Given the description of an element on the screen output the (x, y) to click on. 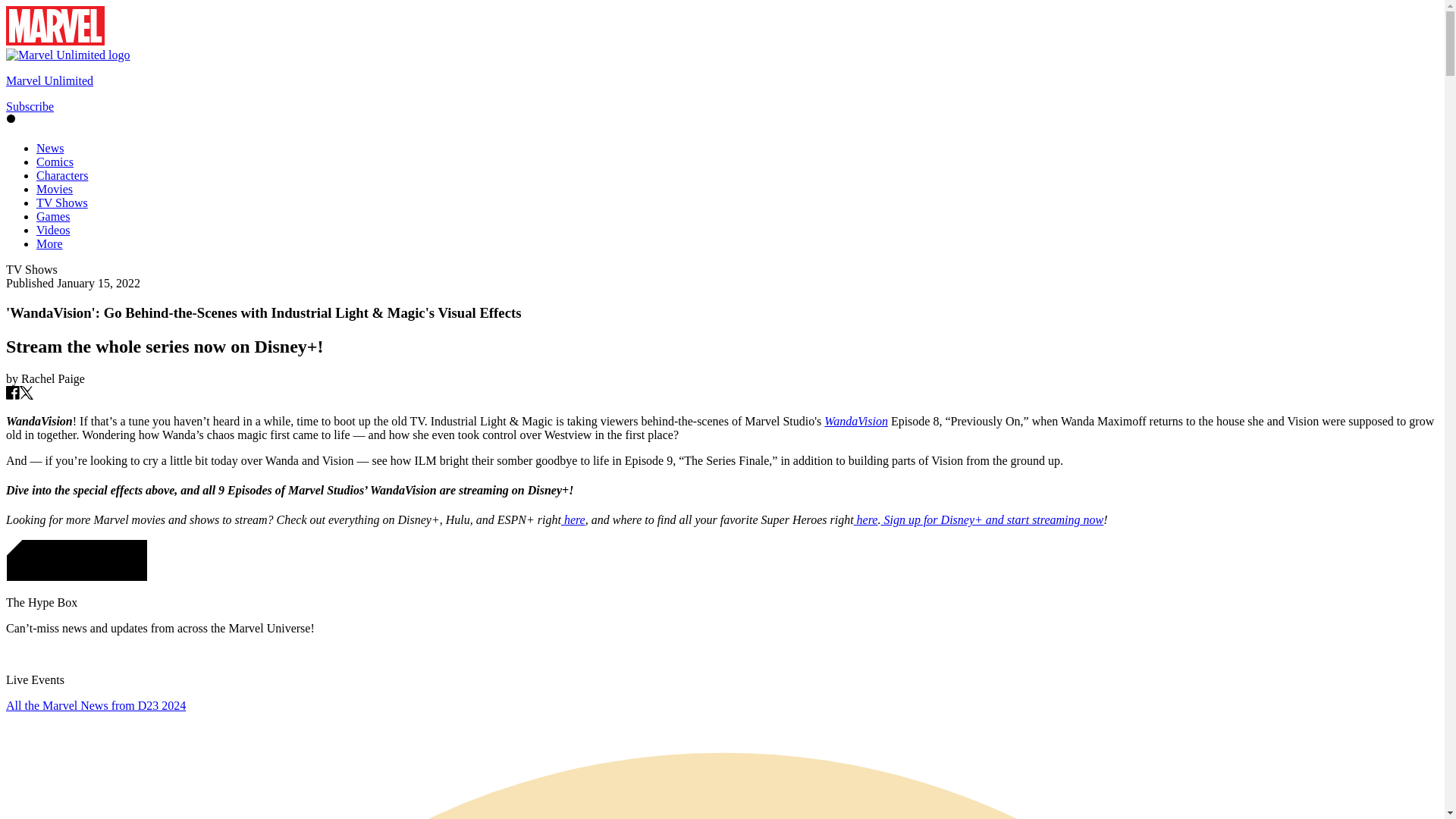
Games (52, 215)
 here (865, 519)
News (50, 147)
Characters (61, 174)
More (49, 243)
WandaVision (856, 420)
All the Marvel News from D23 2024 (95, 705)
 here (572, 519)
Videos (52, 229)
Movies (54, 188)
